Given the description of an element on the screen output the (x, y) to click on. 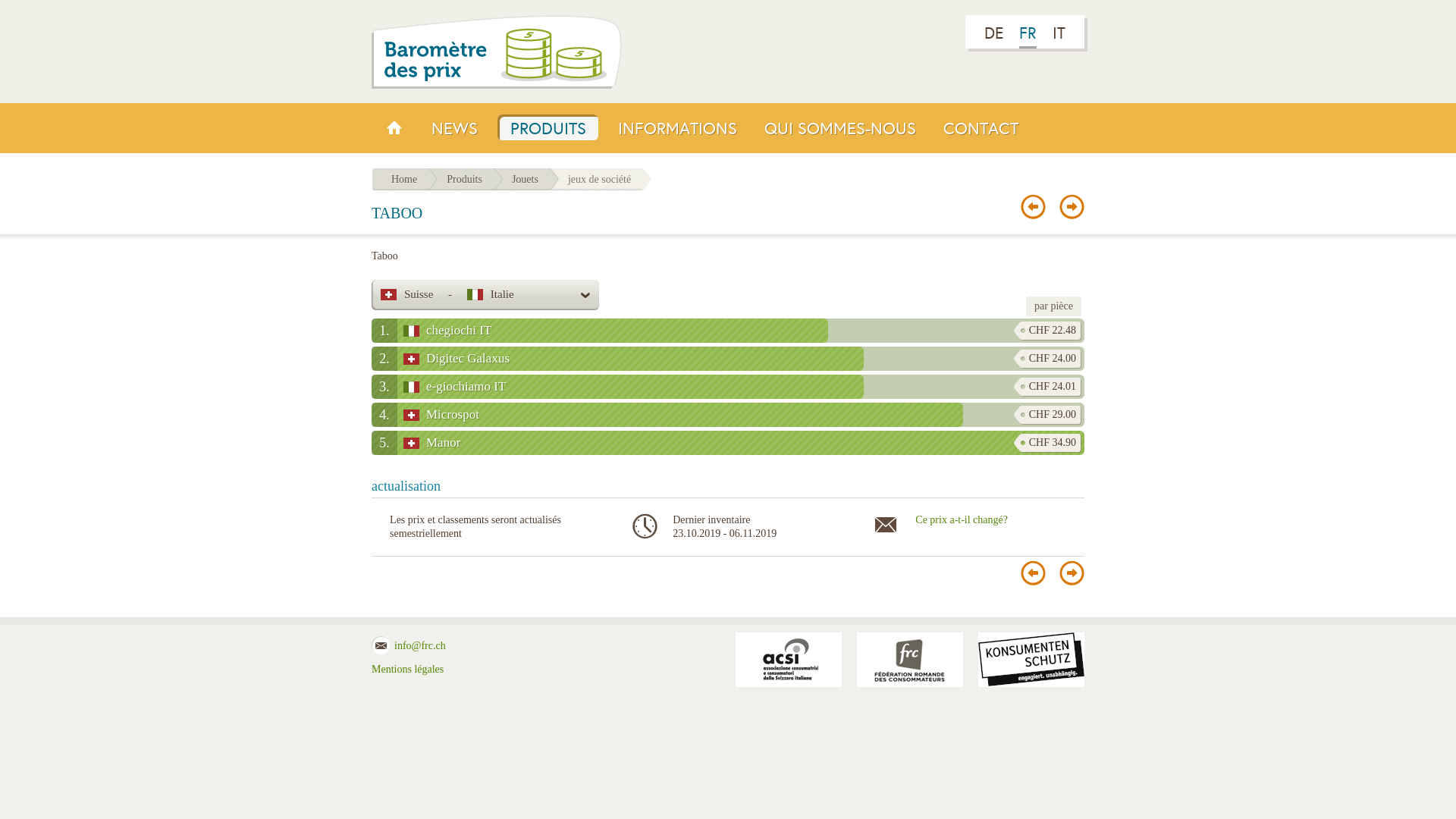
produit suivant Element type: text (1071, 206)
PRODUITS Element type: text (547, 127)
NEWS Element type: text (454, 127)
Produits Element type: text (464, 179)
info@frc.ch Element type: text (419, 645)
Konsumentenschutz Element type: hover (1031, 659)
DE Element type: text (993, 32)
CONTACT Element type: text (980, 127)
Jouets Element type: text (525, 179)
INFORMATIONS Element type: text (677, 127)
produit suivant Element type: text (1071, 572)
IT Element type: text (1058, 32)
Suisse - Italie Element type: text (485, 294)
QUI SOMMES-NOUS Element type: text (839, 127)
FR Element type: text (1027, 32)
Home Element type: text (404, 179)
